Given the description of an element on the screen output the (x, y) to click on. 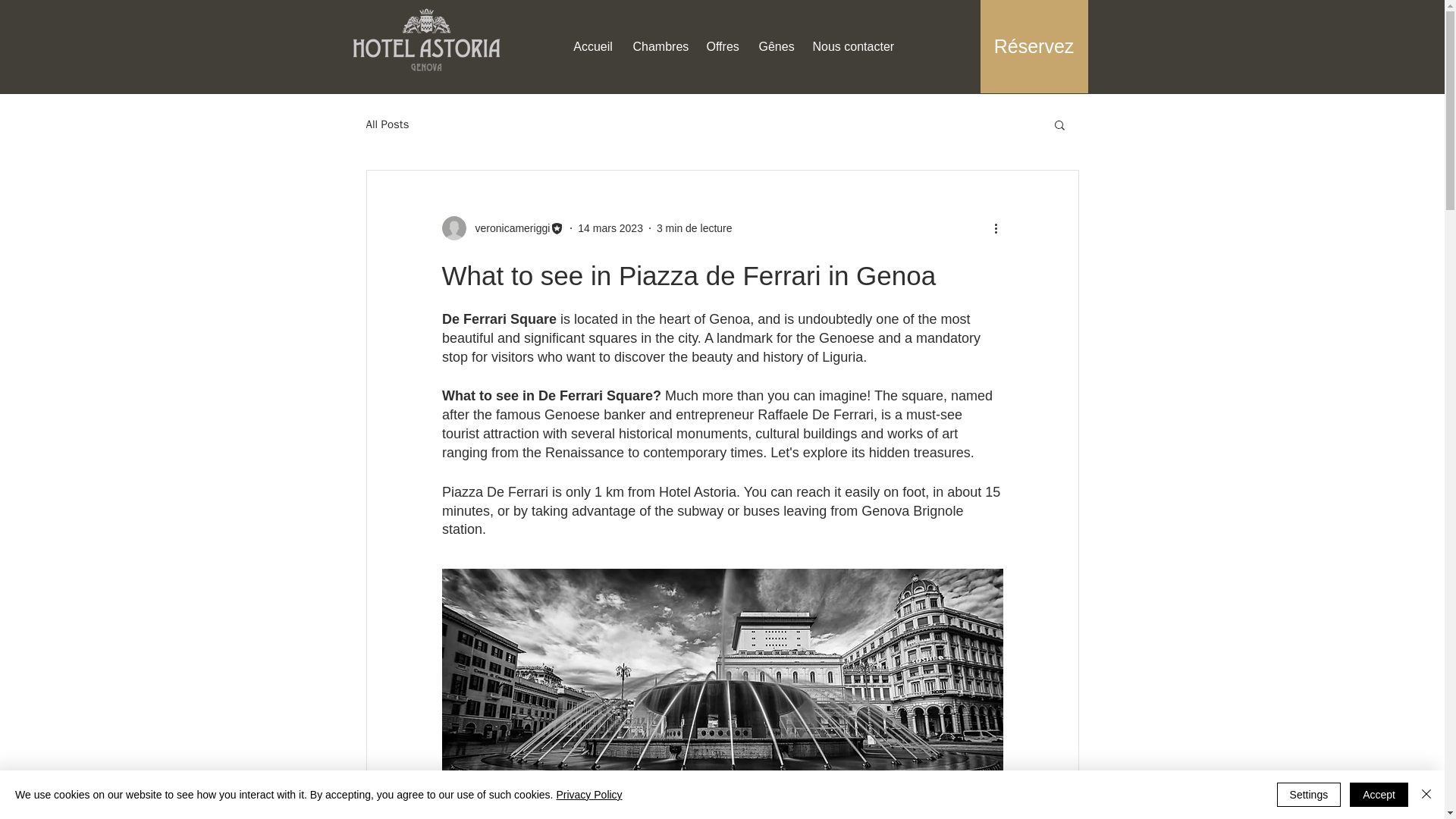
All Posts (387, 124)
Offres (721, 40)
veronicameriggi (507, 227)
Chambres (660, 40)
3 min de lecture (694, 227)
Nous contacter (852, 40)
14 mars 2023 (610, 227)
Accueil (592, 40)
veronicameriggi (502, 228)
Hotel 4 Stelle Genova (425, 39)
